Given the description of an element on the screen output the (x, y) to click on. 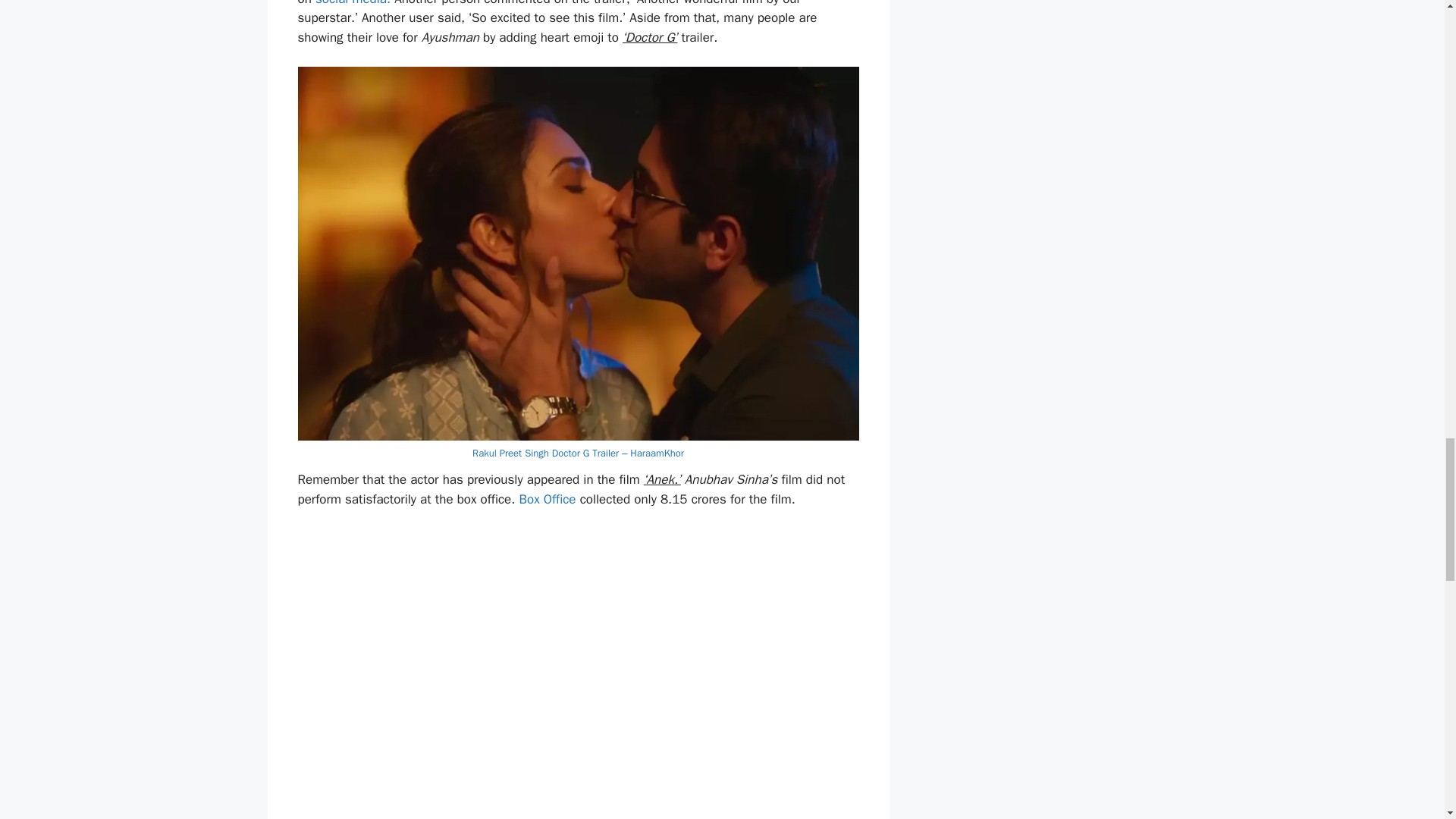
social media. (352, 3)
Box Office (546, 498)
